Given the description of an element on the screen output the (x, y) to click on. 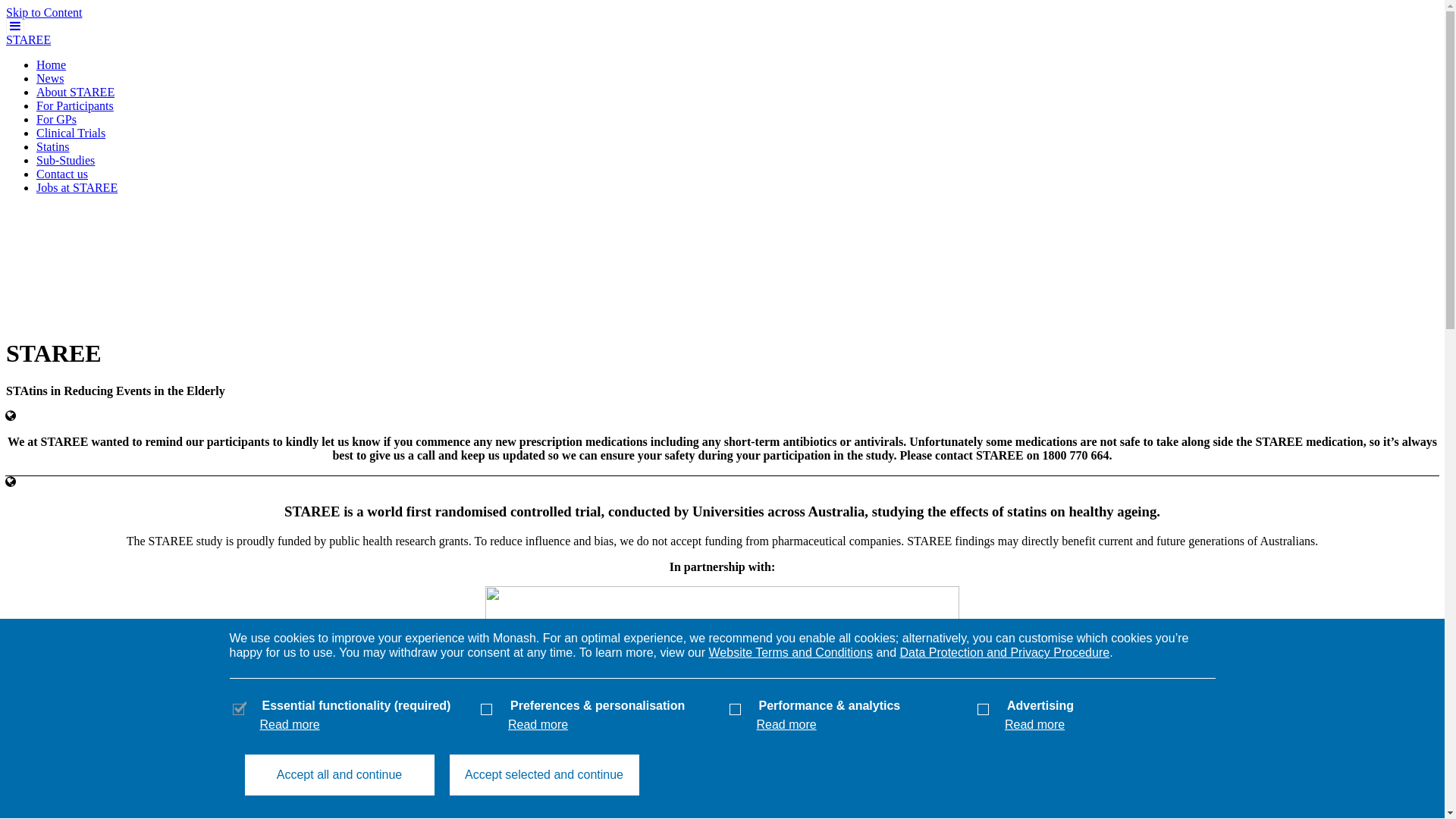
Find out more Element type: text (737, 804)
Contact us Element type: text (61, 173)
Read more Element type: text (1034, 724)
Read more Element type: text (786, 724)
Skip to Content Element type: text (43, 12)
Statins Element type: text (52, 146)
Jobs at STAREE Element type: text (76, 187)
Website Terms and Conditions Element type: text (790, 652)
Read more Element type: text (537, 724)
Clinical Trials Element type: text (70, 132)
Monash University Element type: hover (722, 40)
For Participants Element type: text (74, 105)
Data Protection and Privacy Procedure Element type: text (1005, 652)
Accept all and continue Element type: text (338, 774)
For GPs Element type: text (56, 118)
Read more Element type: text (289, 724)
Home Element type: text (50, 64)
Accept selected and continue Element type: text (543, 774)
News Element type: text (49, 78)
About STAREE Element type: text (75, 91)
STAREE Element type: text (28, 39)
Sub-Studies Element type: text (65, 159)
